Given the description of an element on the screen output the (x, y) to click on. 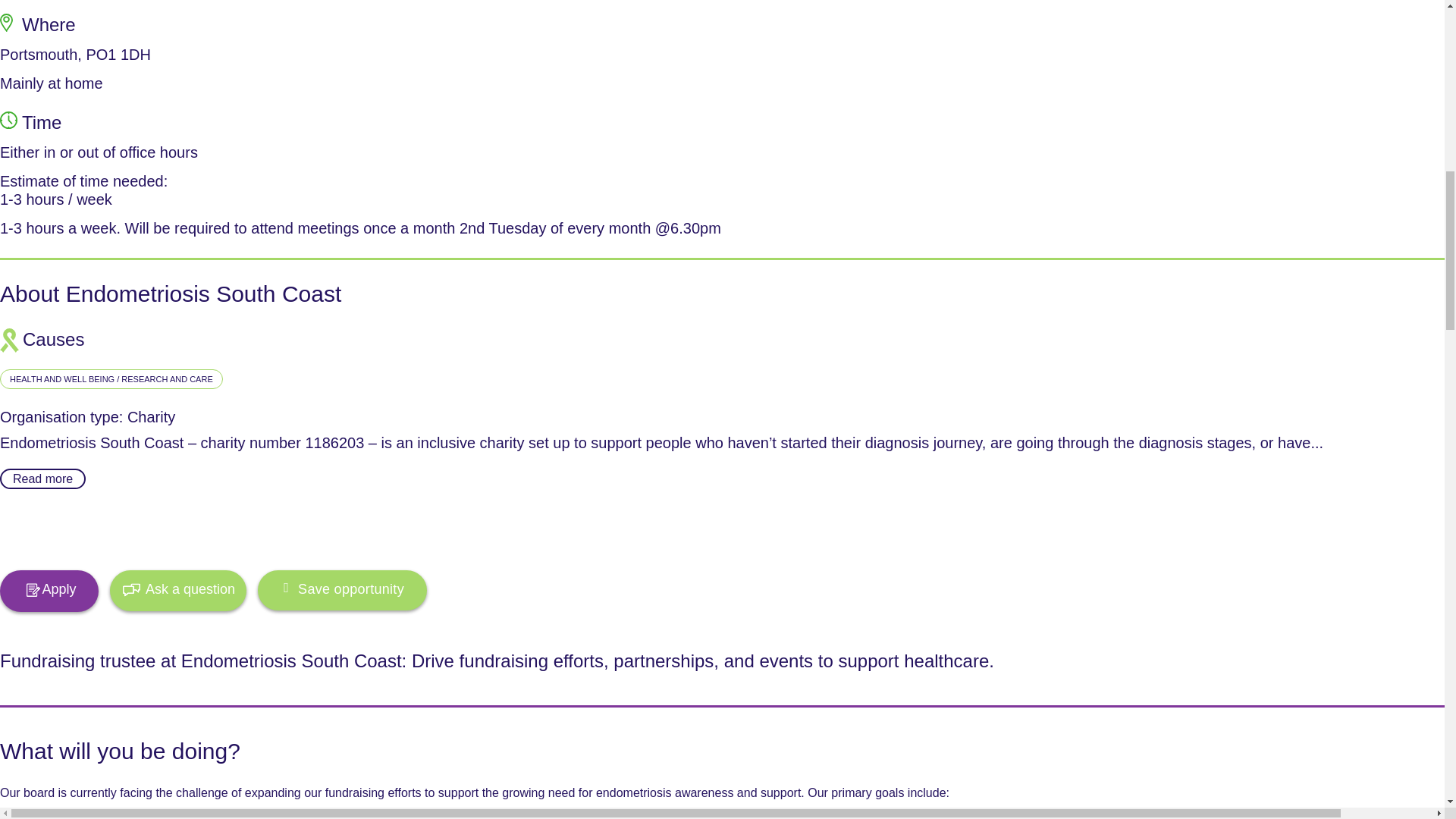
Ask a question (178, 590)
About Endometriosis South Coast (170, 293)
Save to your dashboard (341, 590)
Save opportunity (341, 590)
Apply (49, 590)
Read more (42, 478)
